Given the description of an element on the screen output the (x, y) to click on. 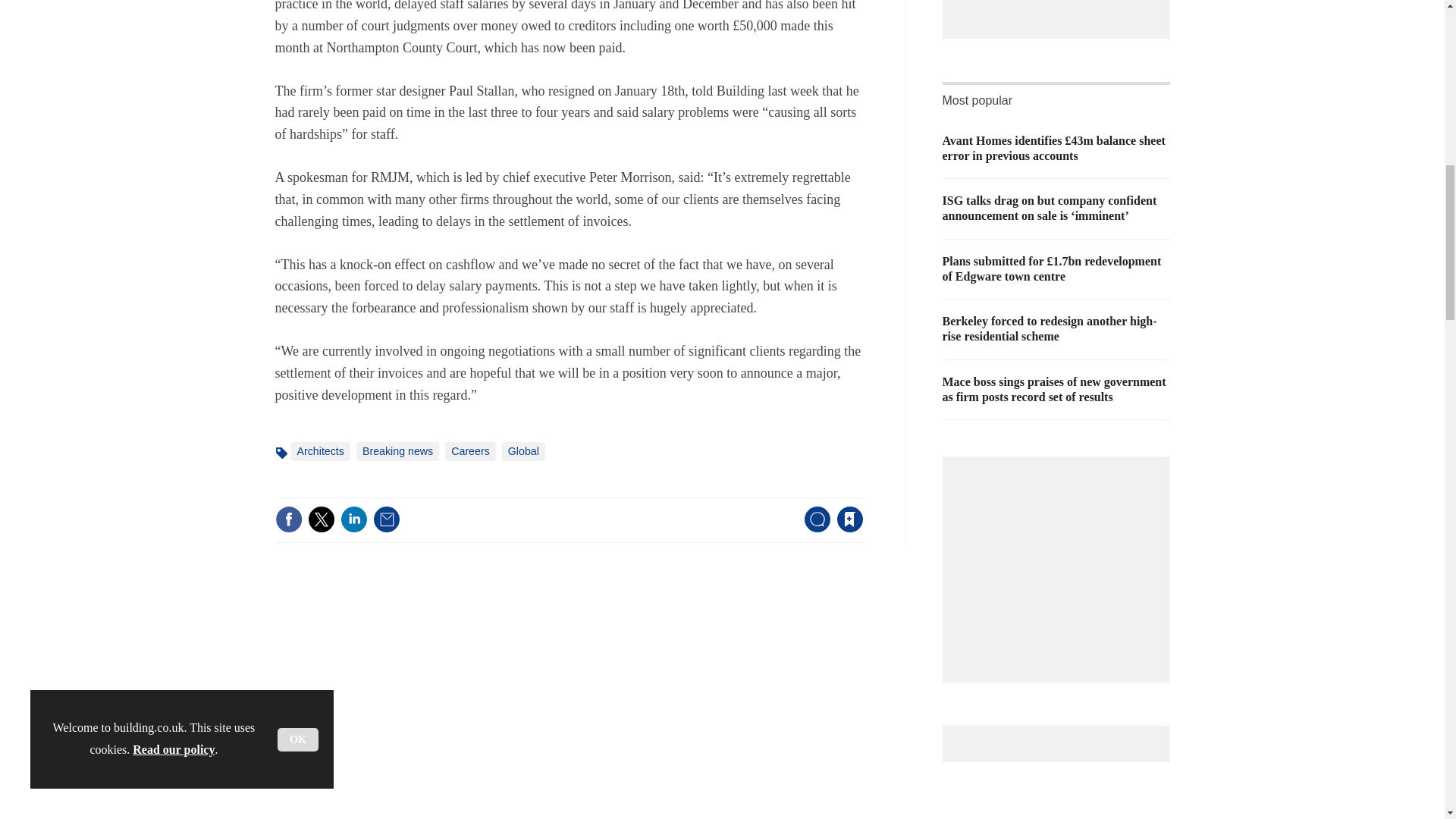
Share this on Linked in (352, 519)
No comments (812, 528)
Email this article (386, 519)
Share this on Facebook (288, 519)
3rd party ad content (1059, 6)
Share this on Twitter (320, 519)
3rd party ad content (1059, 561)
